Given the description of an element on the screen output the (x, y) to click on. 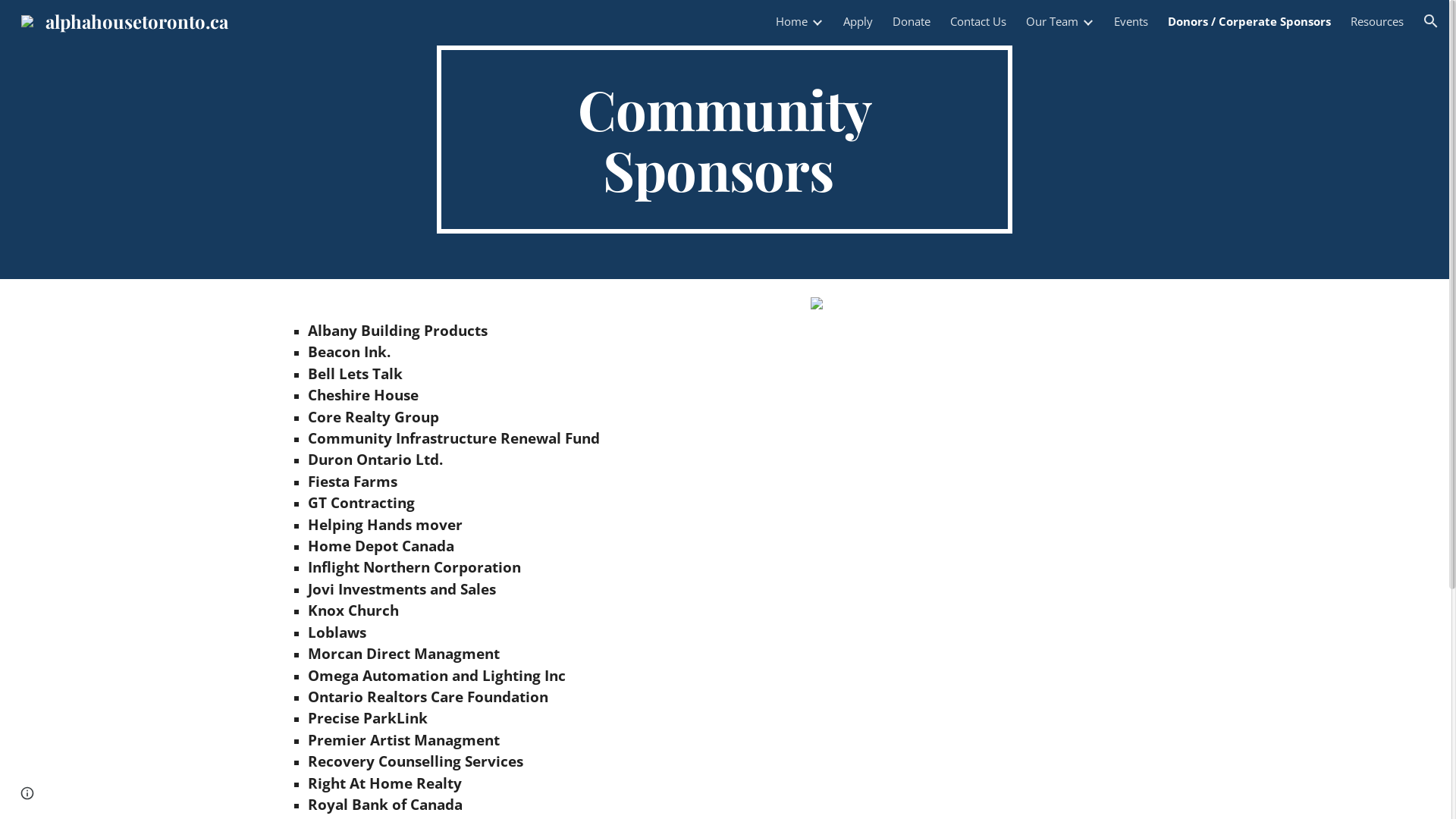
Events Element type: text (1130, 20)
Contact Us Element type: text (978, 20)
Home Element type: text (791, 20)
Expand/Collapse Element type: hover (816, 20)
Apply Element type: text (857, 20)
alphahousetoronto.ca Element type: text (124, 18)
Our Team Element type: text (1052, 20)
Donors / Corperate Sponsors Element type: text (1248, 20)
Donate Element type: text (911, 20)
Expand/Collapse Element type: hover (1087, 20)
Resources Element type: text (1376, 20)
